Given the description of an element on the screen output the (x, y) to click on. 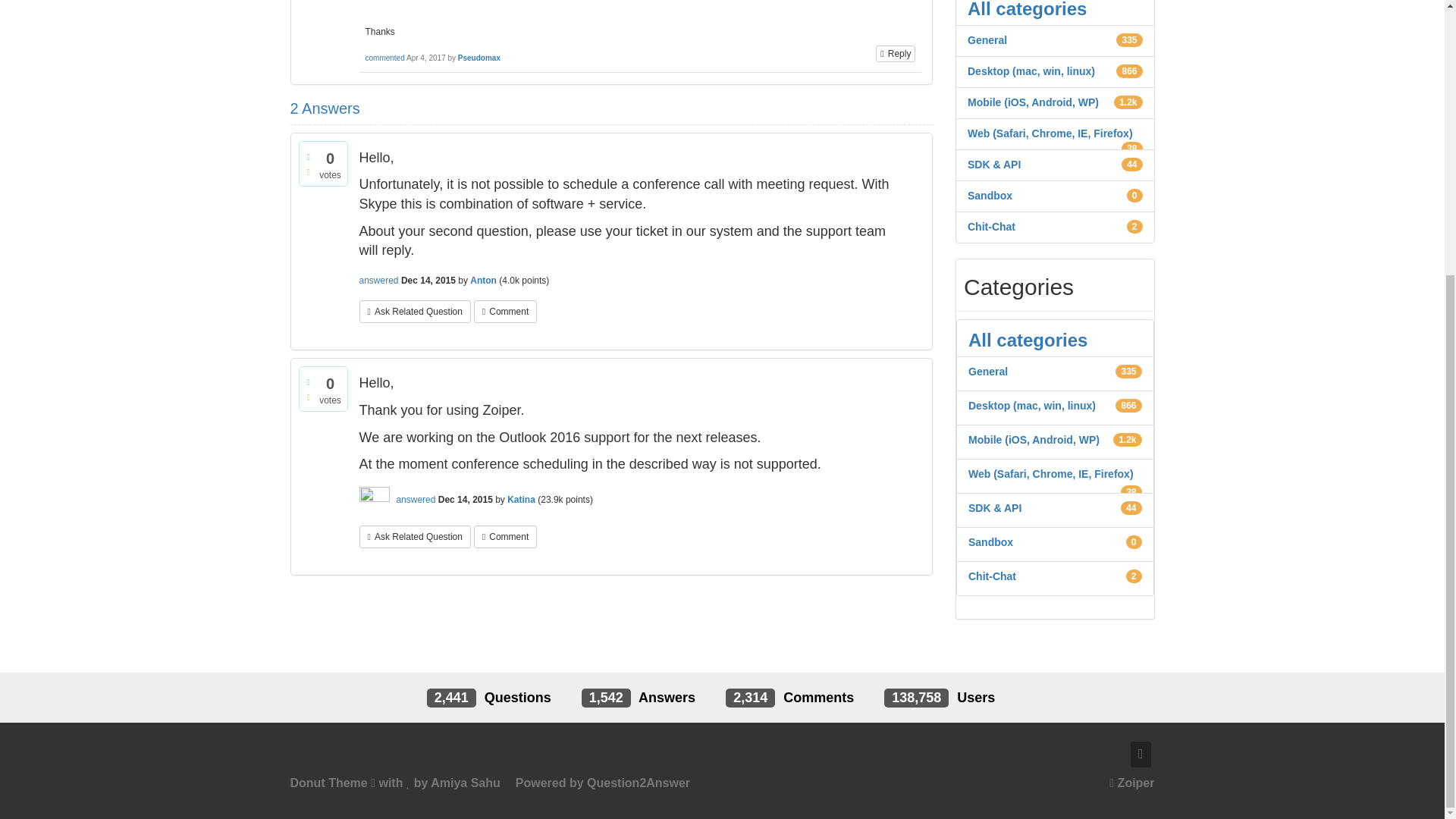
Comment (505, 311)
Reply (895, 53)
Ask Related Question (414, 311)
Pseudomax (479, 58)
Anton (483, 280)
answered (378, 280)
commented (384, 58)
